Given the description of an element on the screen output the (x, y) to click on. 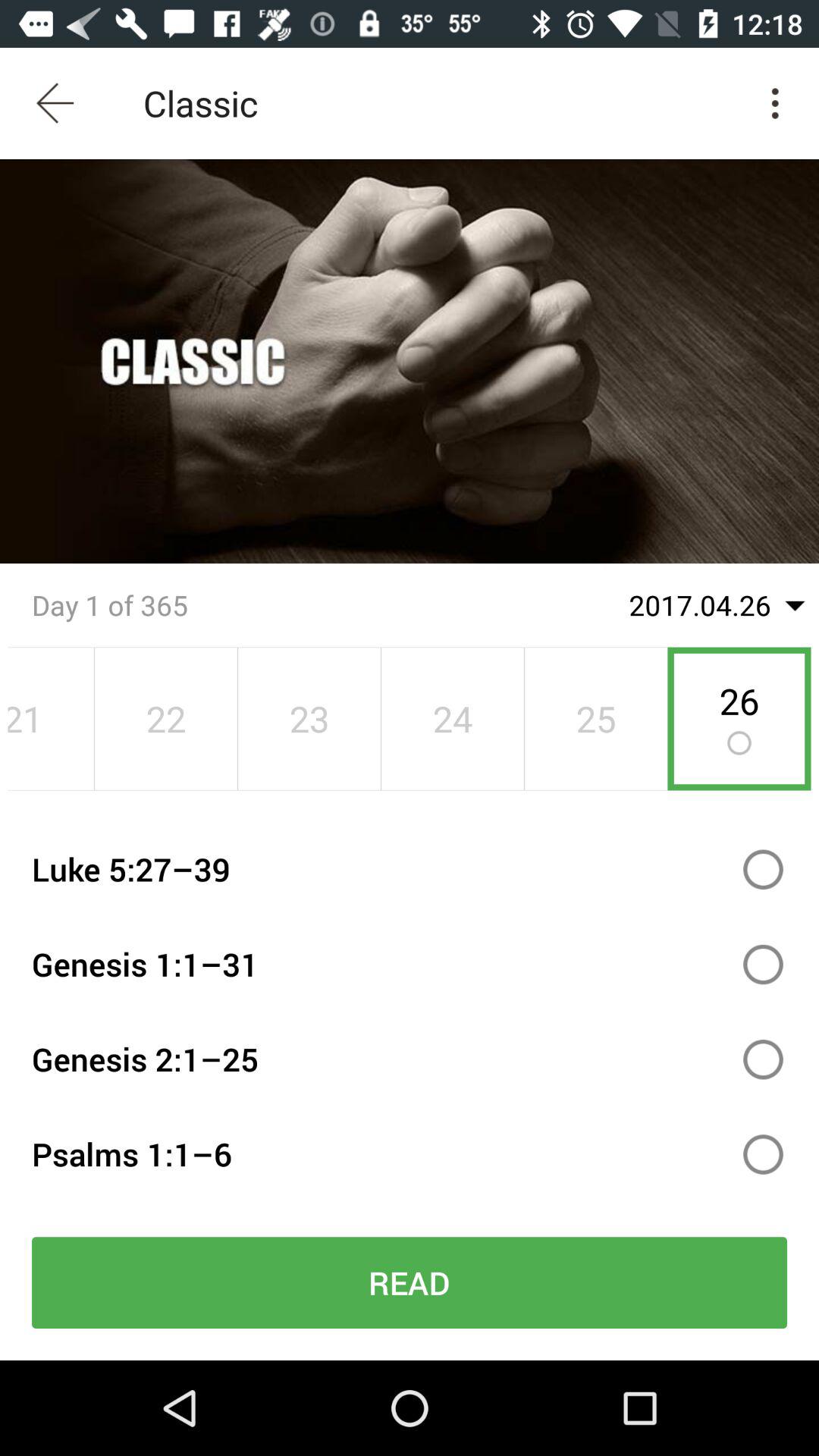
select bible reading (763, 1154)
